Given the description of an element on the screen output the (x, y) to click on. 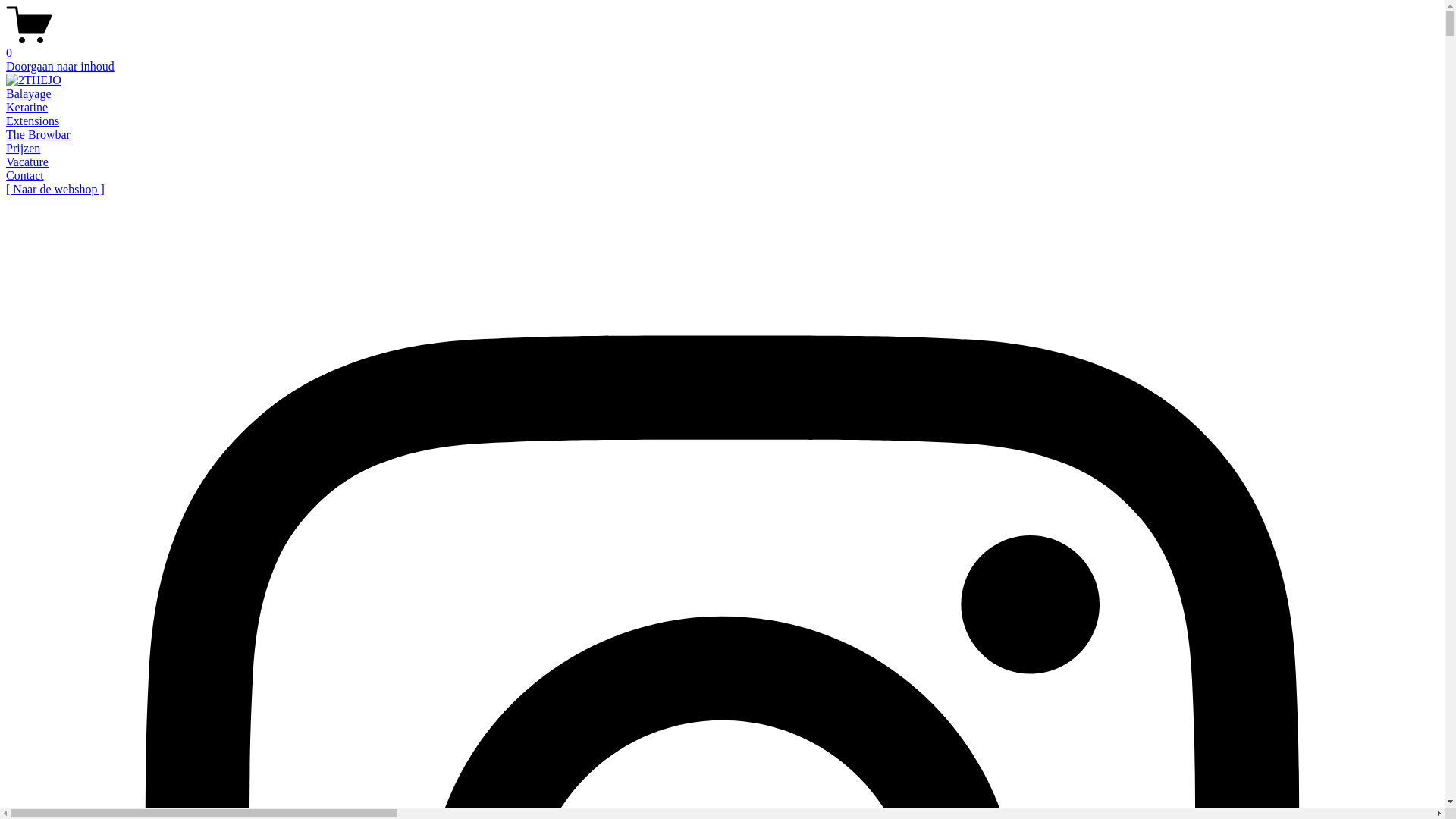
Prijzen Element type: text (23, 147)
The Browbar Element type: text (38, 134)
[ Naar de webshop ] Element type: text (55, 188)
0 Element type: text (722, 45)
Vacature Element type: text (27, 161)
Extensions Element type: text (32, 120)
Contact Element type: text (24, 175)
Balayage Element type: text (28, 93)
Doorgaan naar inhoud Element type: text (60, 65)
Keratine Element type: text (26, 106)
